Given the description of an element on the screen output the (x, y) to click on. 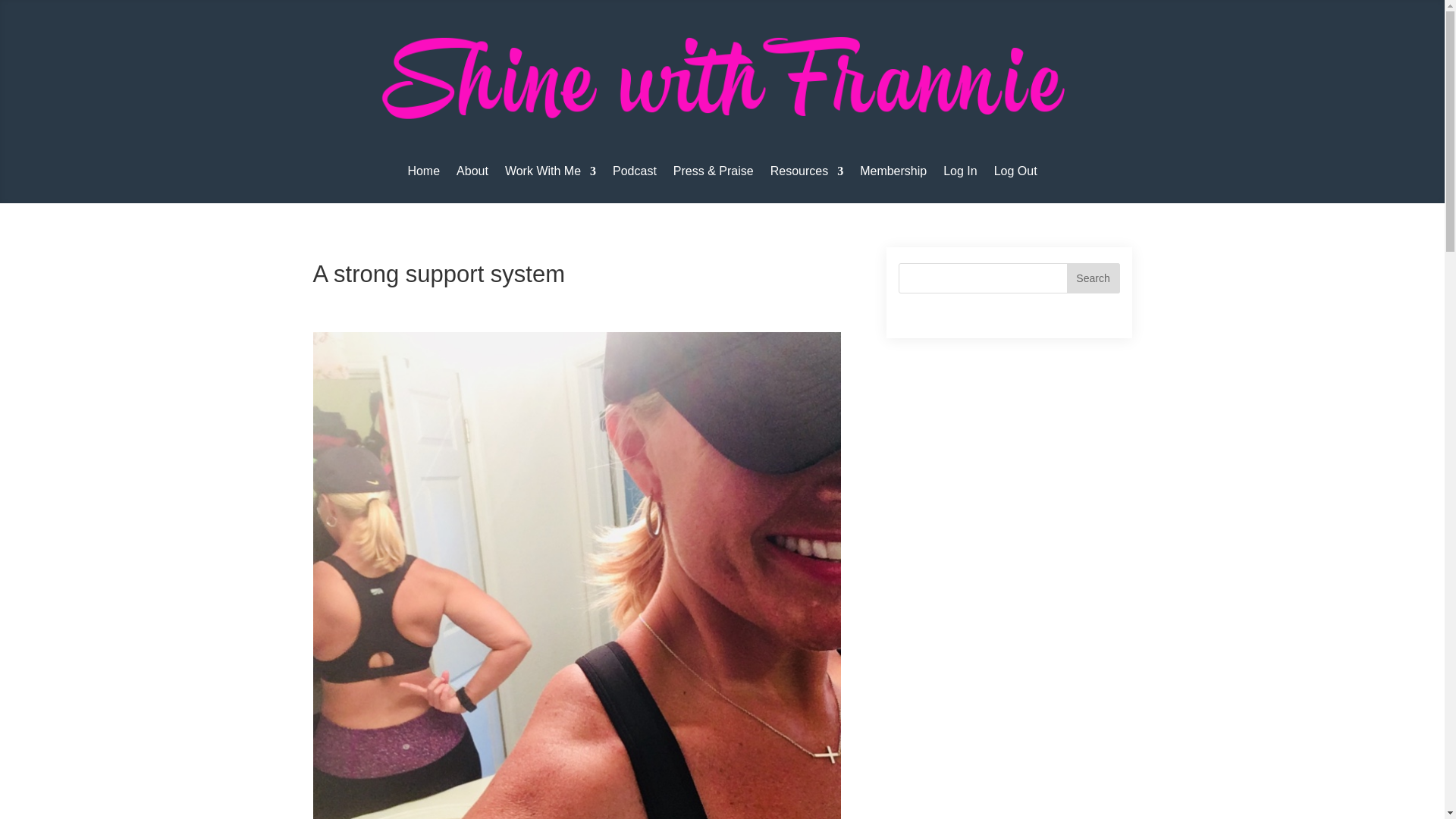
Podcast (634, 174)
Log Out (1015, 174)
Search (1092, 277)
Log In (959, 174)
Home (423, 174)
About (472, 174)
Work With Me (550, 174)
Resources (806, 174)
Search (1092, 277)
Membership (893, 174)
